Given the description of an element on the screen output the (x, y) to click on. 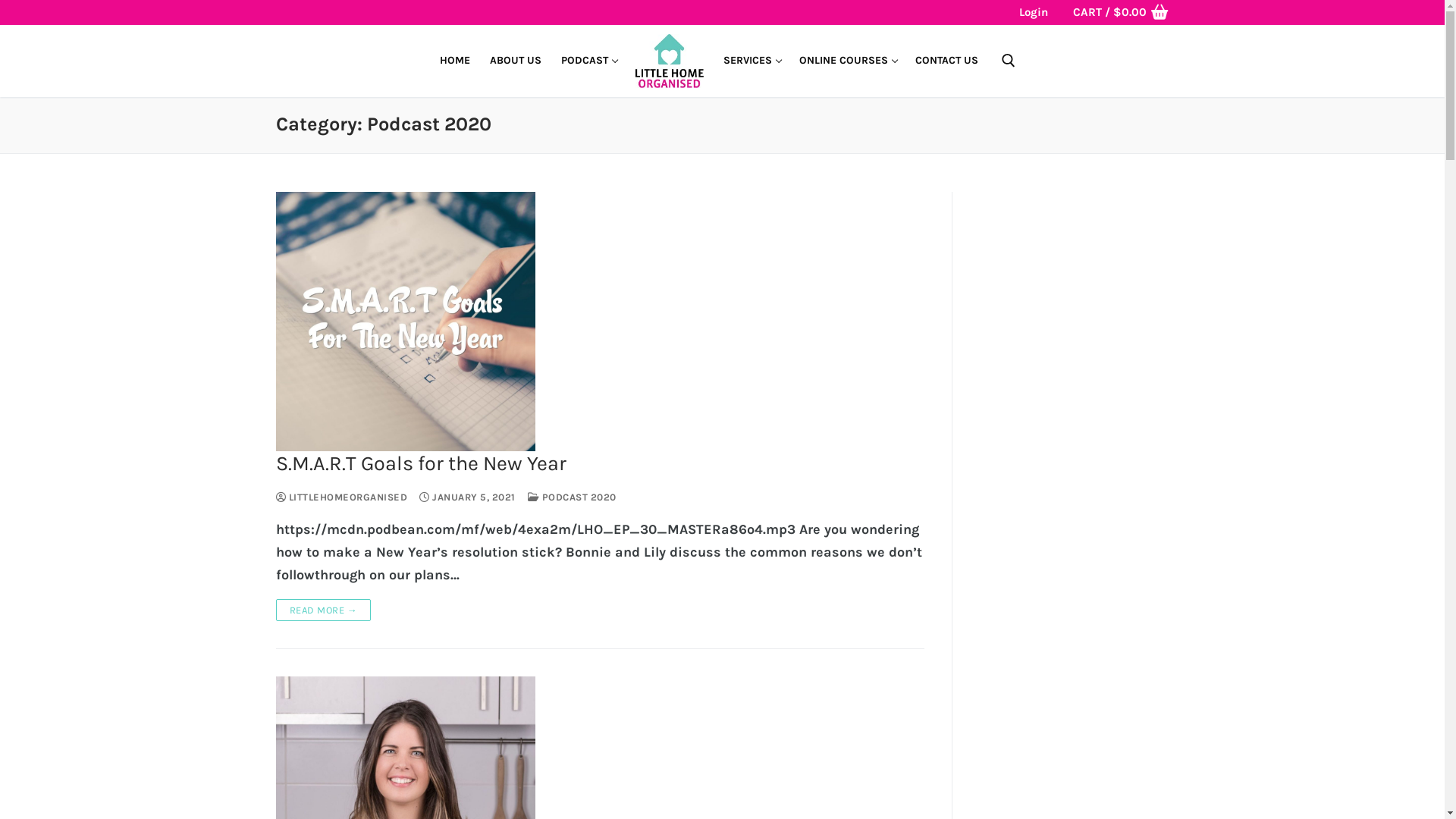
Login Element type: text (1033, 11)
PODCAST
  Element type: text (587, 60)
CONTACT US Element type: text (946, 60)
SERVICES
  Element type: text (750, 60)
PODCAST 2020 Element type: text (571, 496)
CART
/
$0.00 Element type: text (1121, 12)
S.M.A.R.T Goals for the New Year Element type: text (600, 463)
JANUARY 5, 2021 Element type: text (467, 496)
LITTLEHOMEORGANISED Element type: text (341, 496)
HOME Element type: text (454, 60)
S.M.A.R.T Goals for the New Year Element type: hover (405, 321)
ABOUT US Element type: text (514, 60)
ONLINE COURSES
  Element type: text (846, 60)
